Given the description of an element on the screen output the (x, y) to click on. 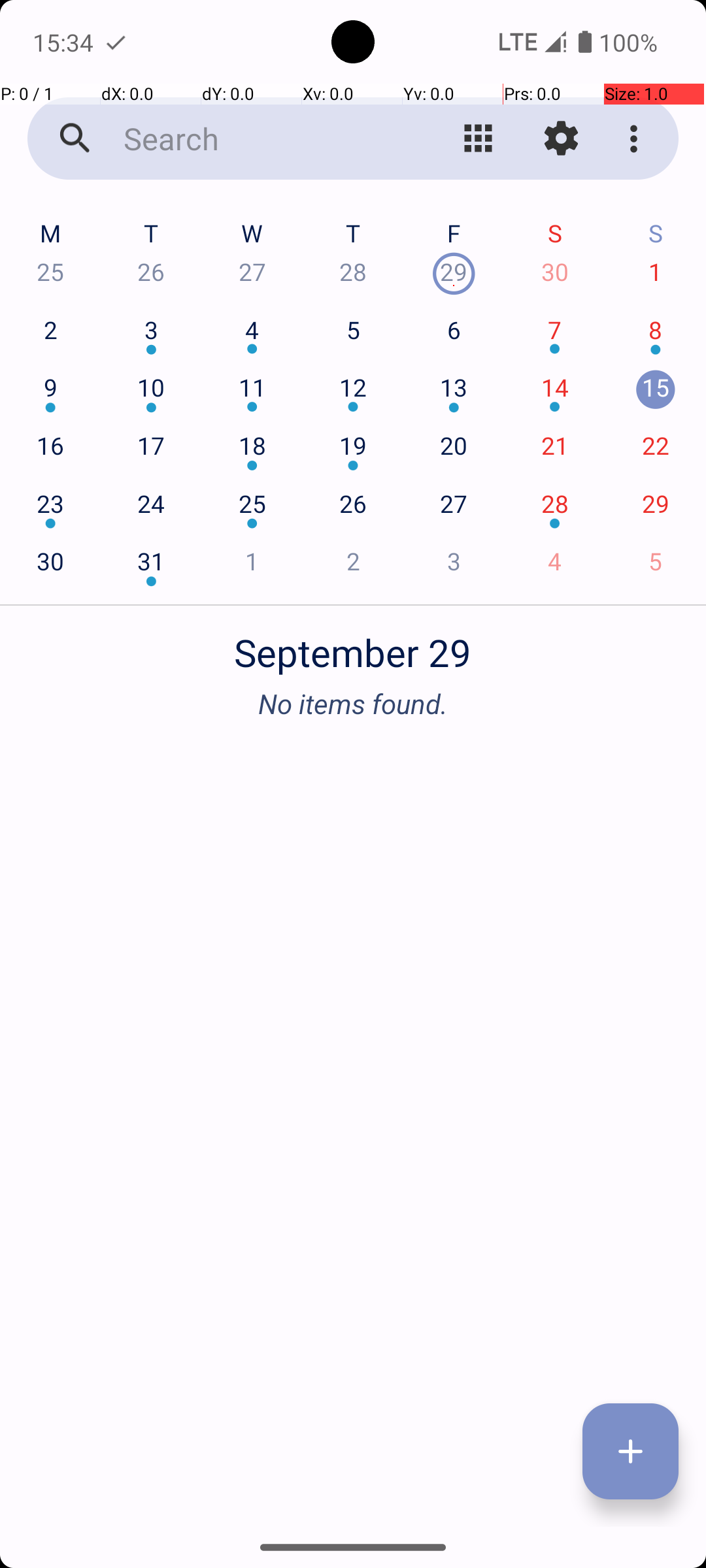
September 29 Element type: android.widget.TextView (352, 644)
